Given the description of an element on the screen output the (x, y) to click on. 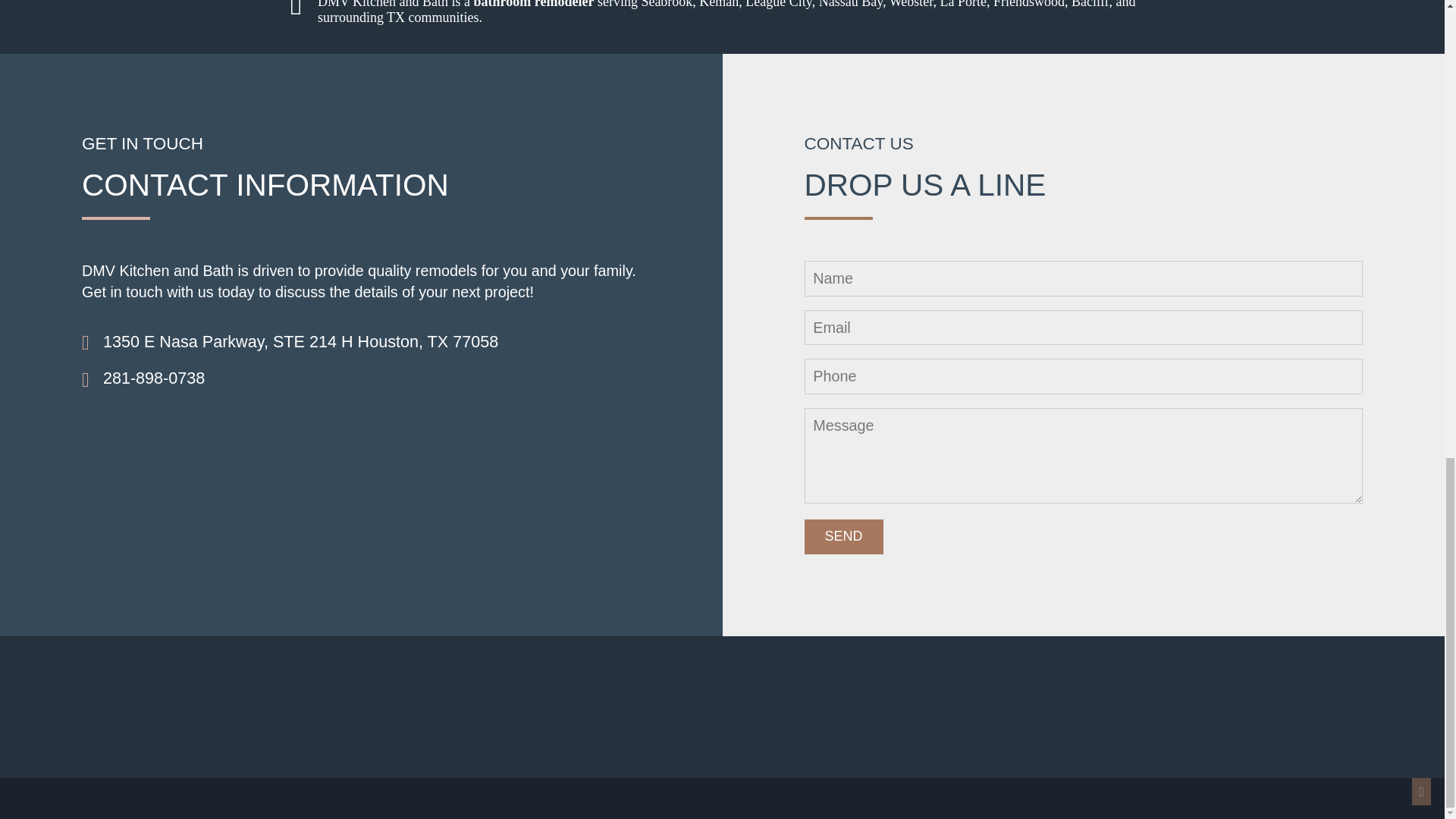
Send (842, 536)
bathroom remodeler (534, 4)
1350 E Nasa Parkway, STE 214 H Houston, TX 77058 (300, 341)
Send (842, 536)
281-898-0738 (154, 378)
